Given the description of an element on the screen output the (x, y) to click on. 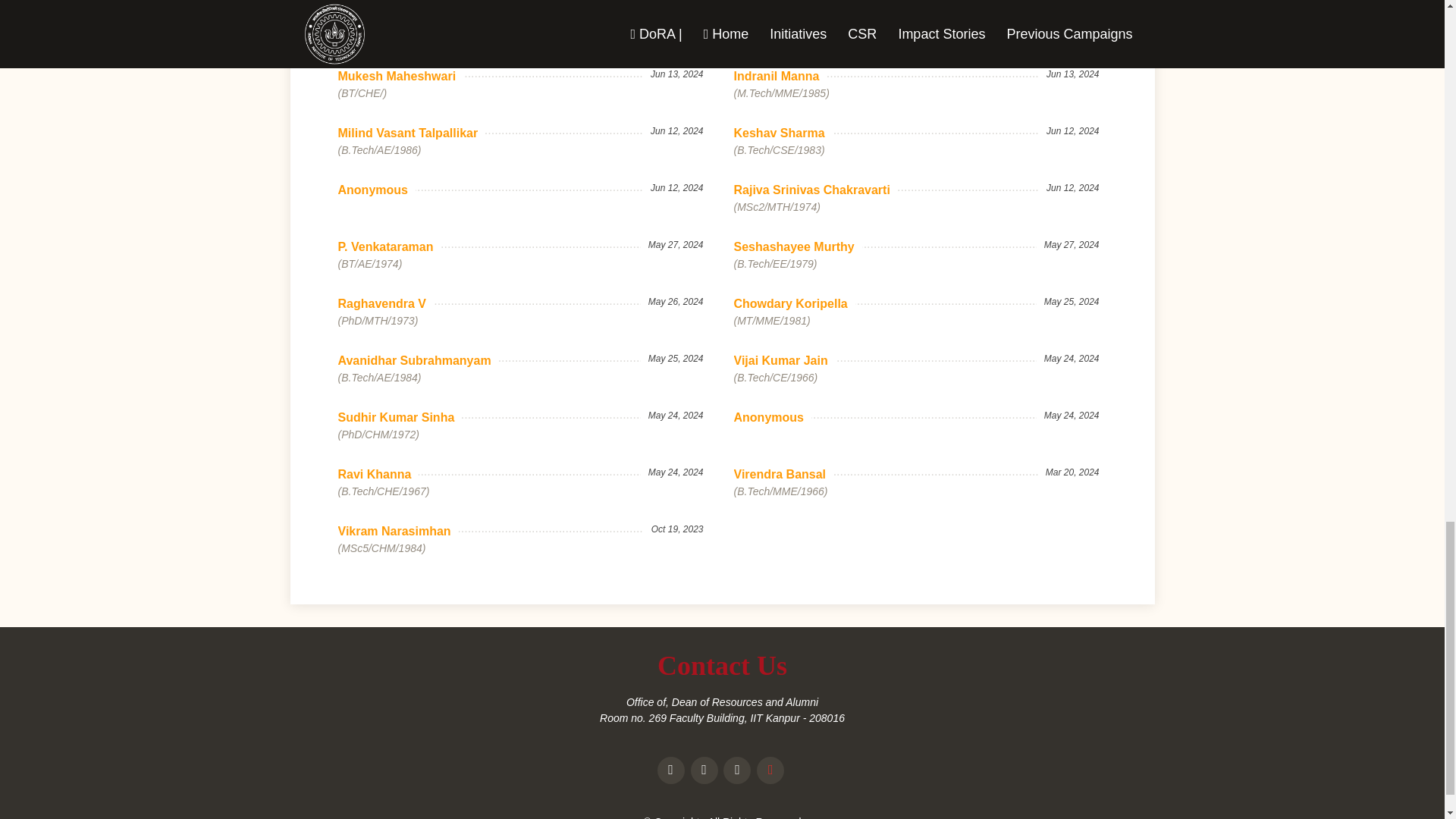
Anonymous (771, 417)
Keshav Sharma (782, 133)
Sudhir Kumar Sinha (400, 417)
Rahul Gautam (778, 19)
Vijai Kumar Jain (784, 361)
Rajiva Srinivas Chakravarti (815, 189)
Indranil Manna (780, 76)
Anonymous (375, 189)
Milind Vasant Talpallikar (411, 133)
Avanidhar Subrahmanyam (418, 361)
Raghavendra V (385, 303)
Virendra Bansal (783, 475)
Vikram Narasimhan (397, 531)
Seshashayee Murthy (797, 247)
Anup Kishore Talwar (401, 19)
